Given the description of an element on the screen output the (x, y) to click on. 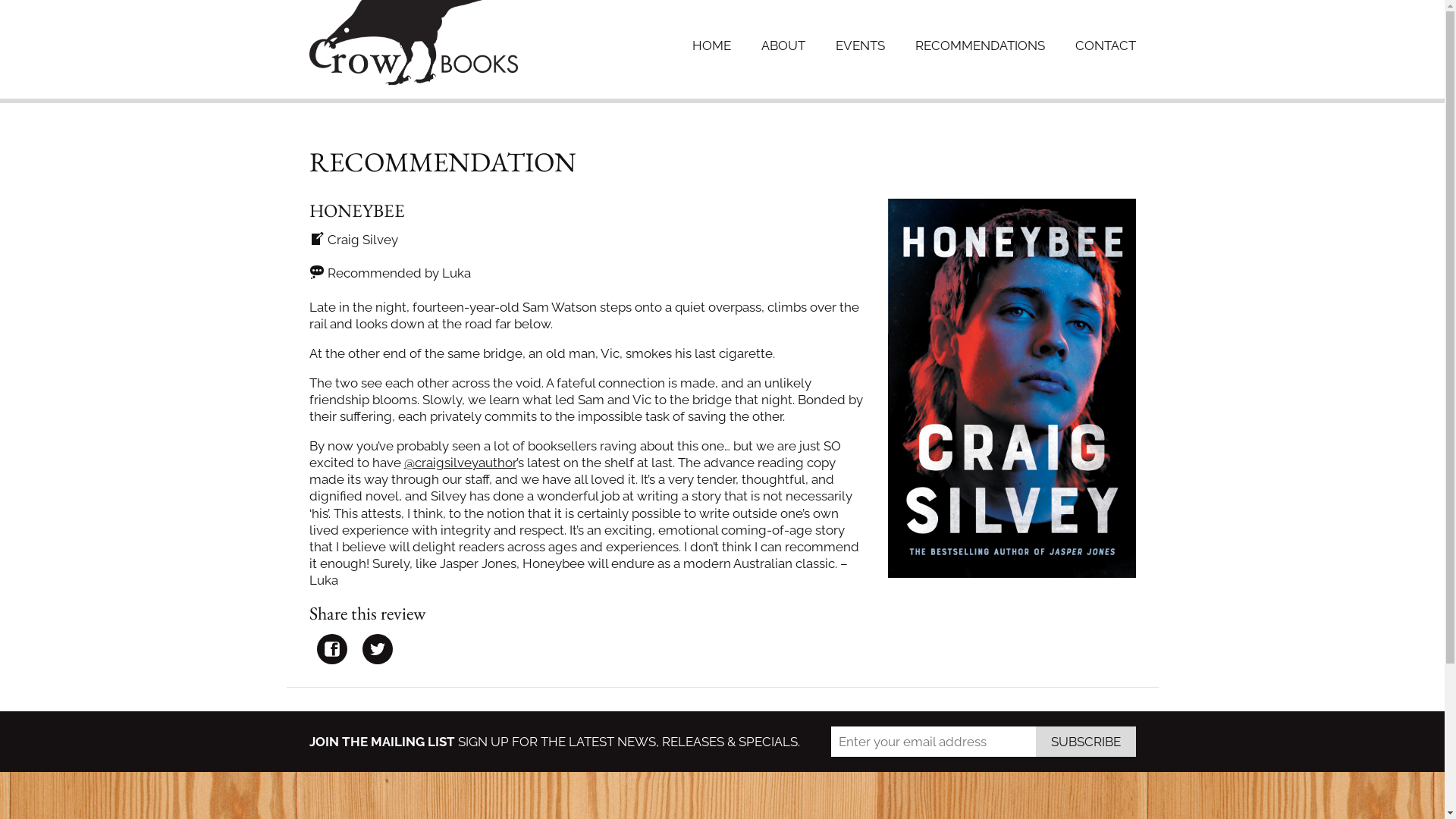
RECOMMENDATIONS Element type: text (979, 45)
Share on Facebook Element type: text (331, 648)
HONEYBEE Element type: text (356, 210)
CONTACT Element type: text (1105, 45)
SUBSCRIBE Element type: text (1085, 741)
Crow Books Element type: text (413, 43)
Share on Twitter Element type: text (377, 648)
HOME Element type: text (710, 45)
ABOUT Element type: text (783, 45)
@craigsilveyauthor Element type: text (459, 462)
EVENTS Element type: text (859, 45)
